Given the description of an element on the screen output the (x, y) to click on. 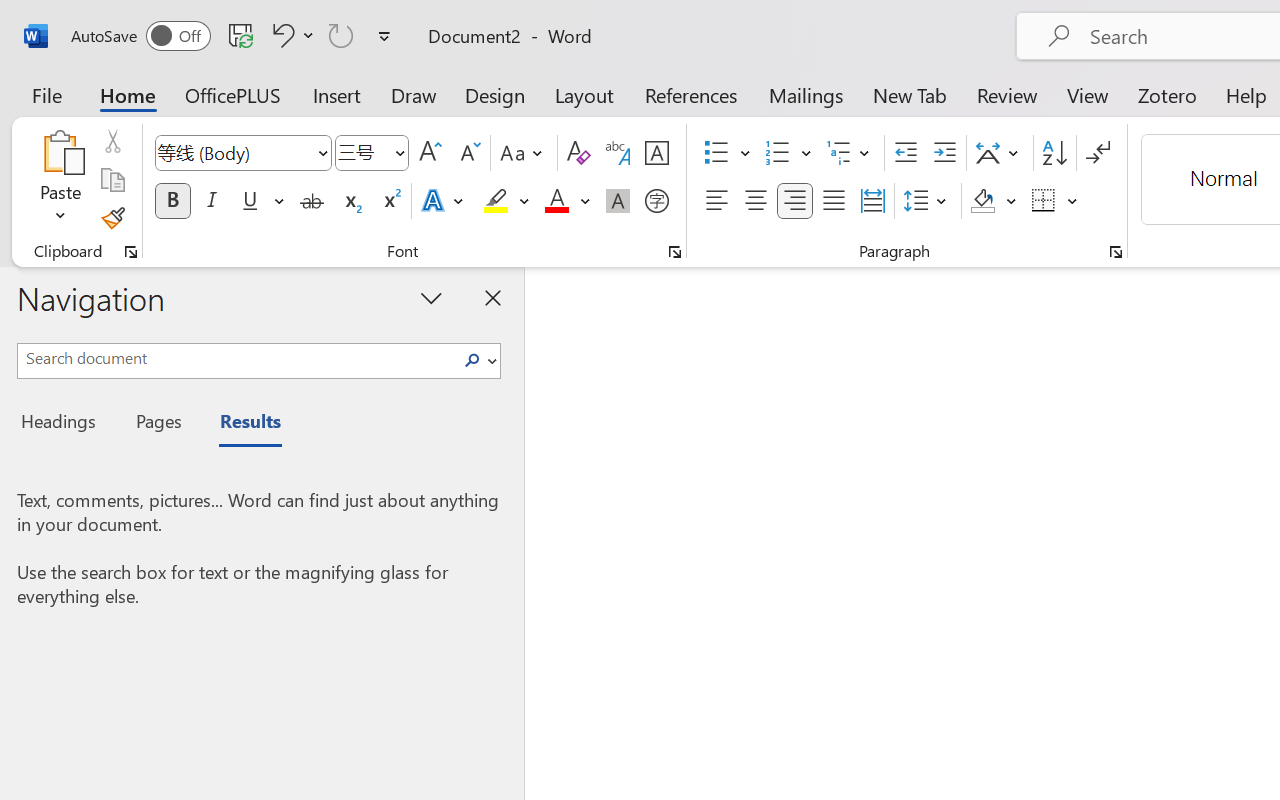
Distributed (872, 201)
Draw (413, 94)
Font Color (567, 201)
Can't Repeat (341, 35)
Customize Quick Access Toolbar (384, 35)
Quick Access Toolbar (233, 36)
Format Painter (112, 218)
Strikethrough (312, 201)
Copy (112, 179)
Align Left (716, 201)
Review (1007, 94)
Enclose Characters... (656, 201)
Character Border (656, 153)
